Given the description of an element on the screen output the (x, y) to click on. 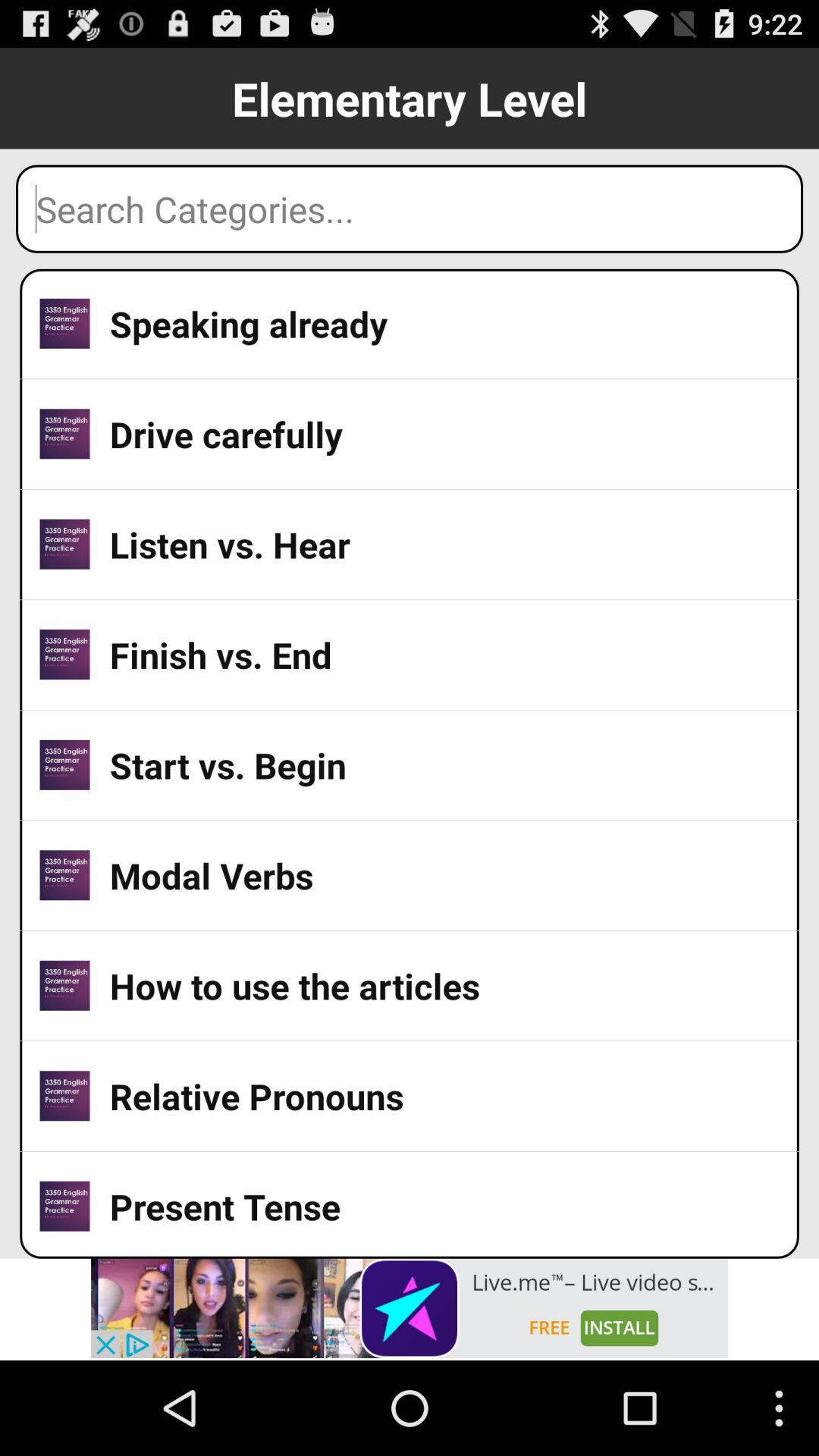
search box for categories (409, 208)
